Given the description of an element on the screen output the (x, y) to click on. 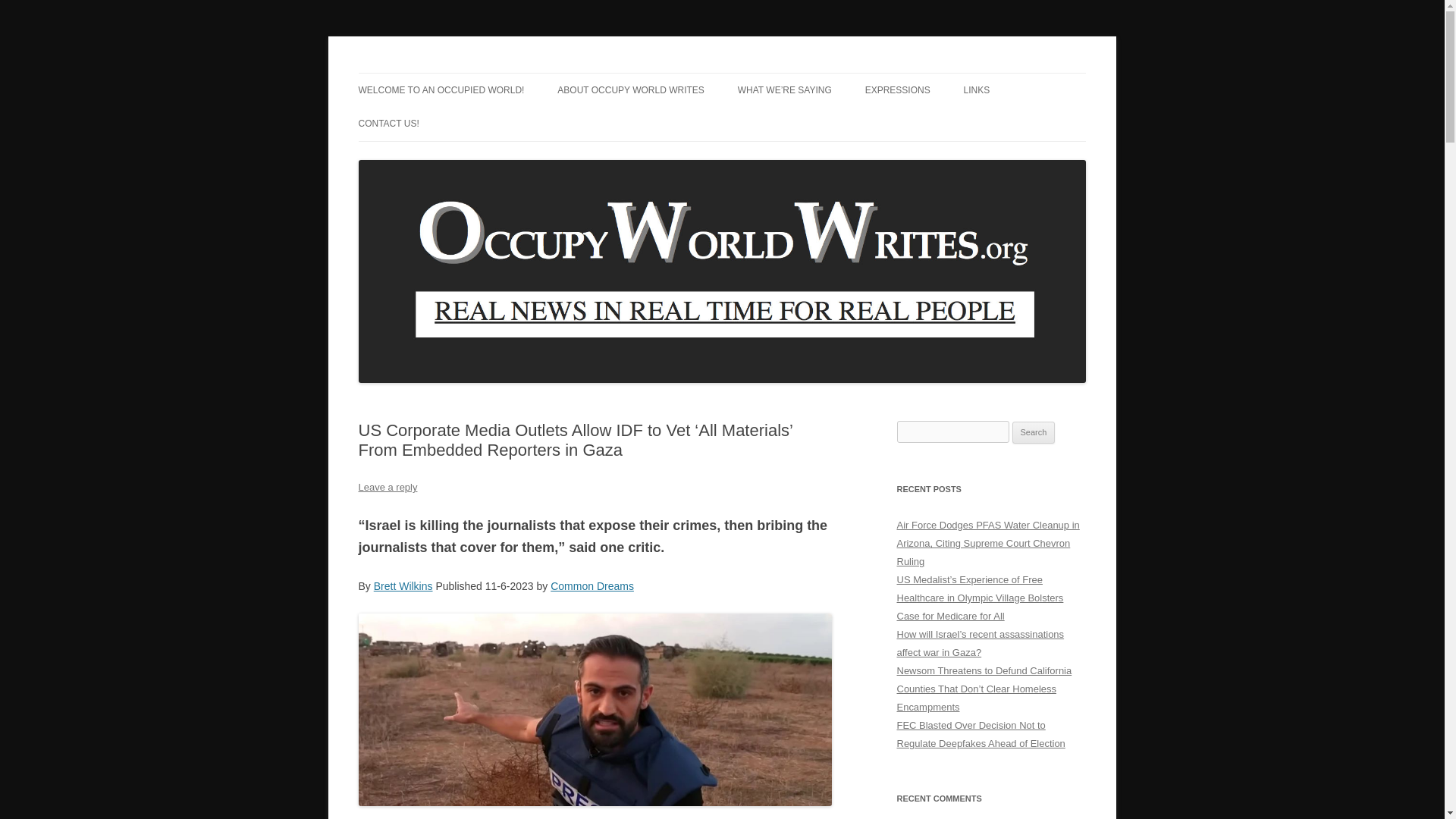
CONTACT US! (388, 123)
ABOUT OCCUPY WORLD WRITES (630, 90)
EXPRESSIONS (897, 90)
Common Dreams (591, 585)
Search (1033, 432)
Leave a reply (387, 487)
Brett Wilkins (403, 585)
Occupy World Writes (457, 72)
WELCOME TO AN OCCUPIED WORLD! (441, 90)
